Given the description of an element on the screen output the (x, y) to click on. 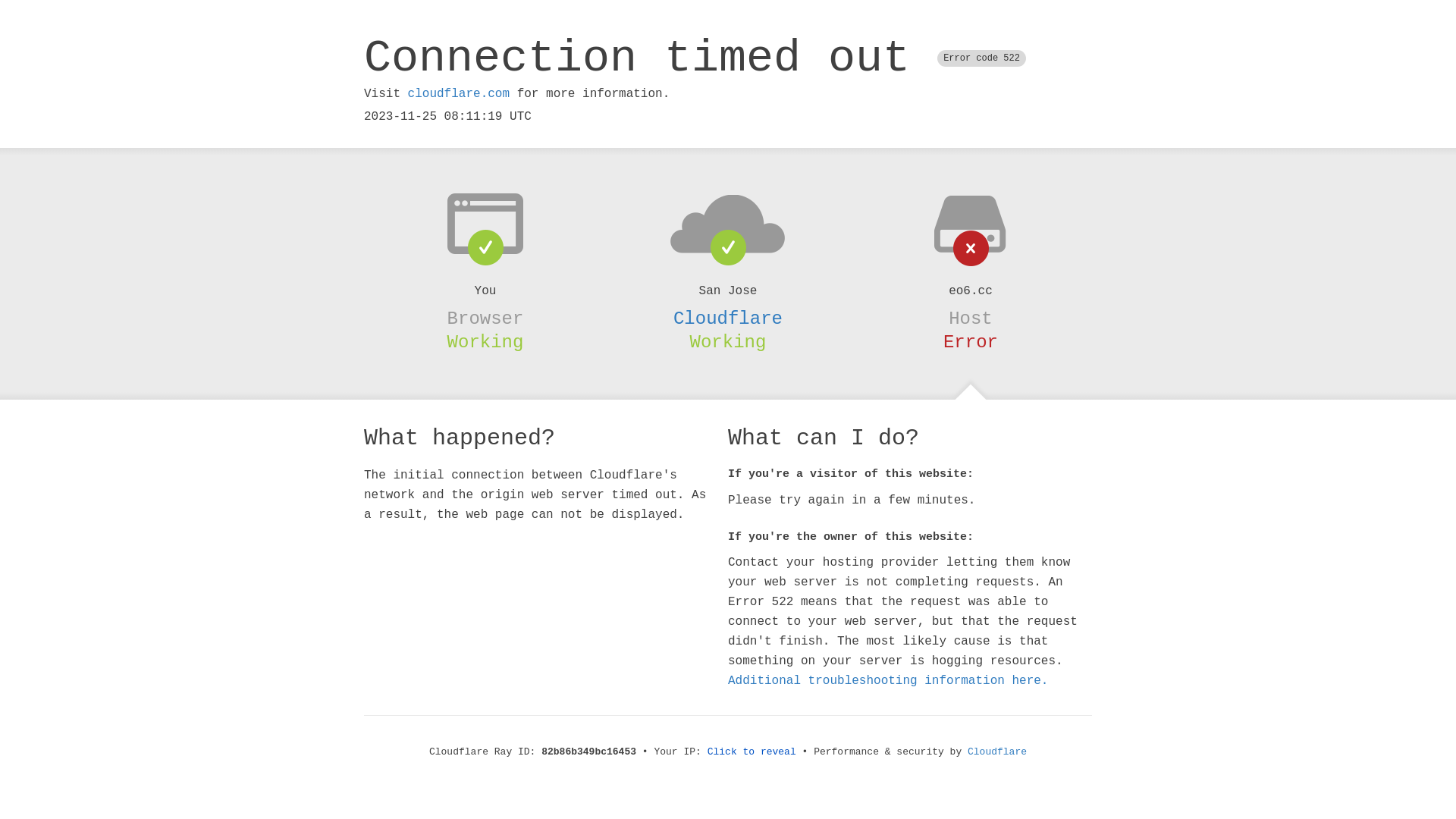
Additional troubleshooting information here. Element type: text (888, 680)
Cloudflare Element type: text (727, 318)
Click to reveal Element type: text (751, 751)
cloudflare.com Element type: text (458, 93)
Cloudflare Element type: text (996, 751)
